Given the description of an element on the screen output the (x, y) to click on. 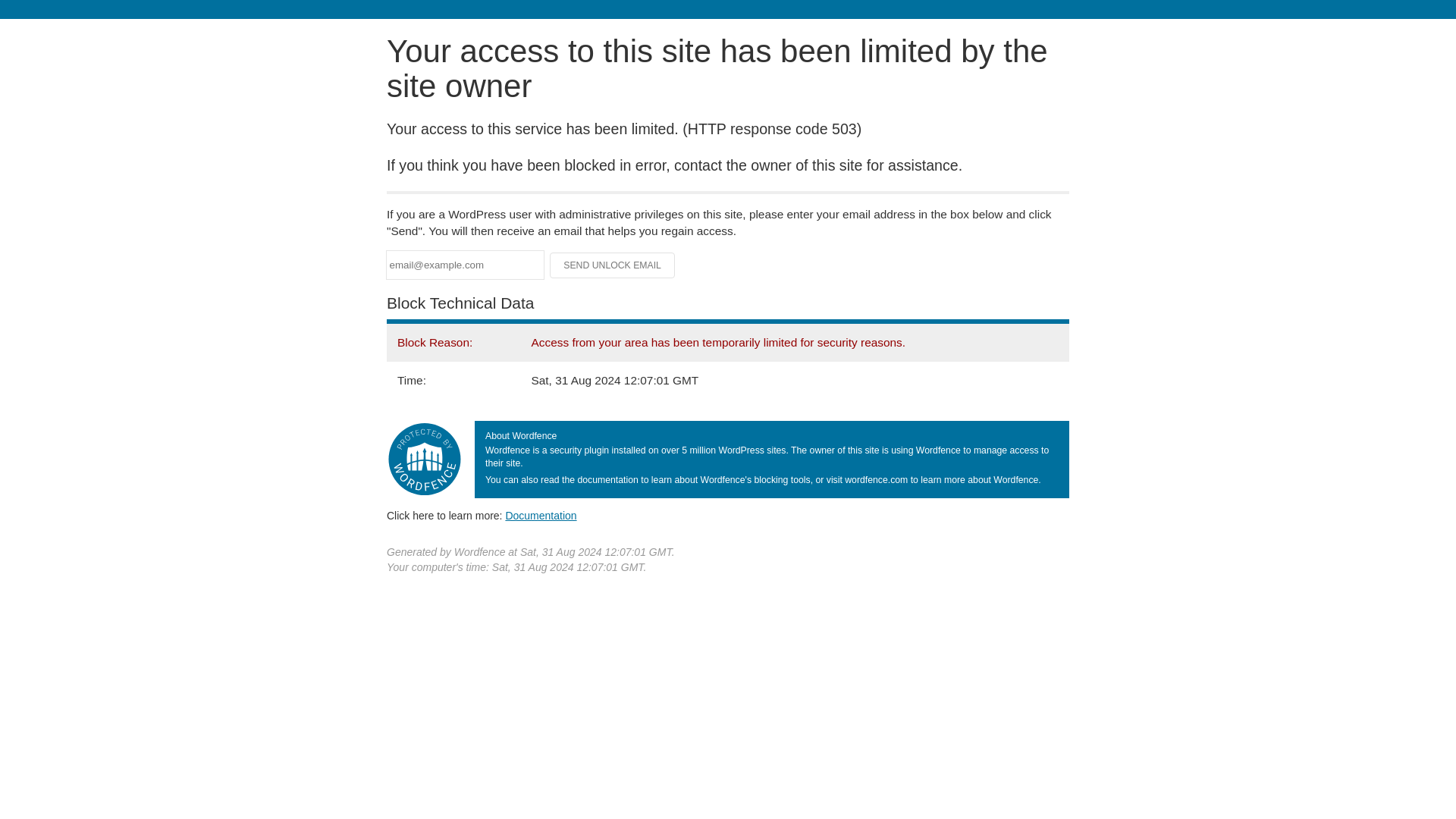
Send Unlock Email (612, 265)
Documentation (540, 515)
Send Unlock Email (612, 265)
